Given the description of an element on the screen output the (x, y) to click on. 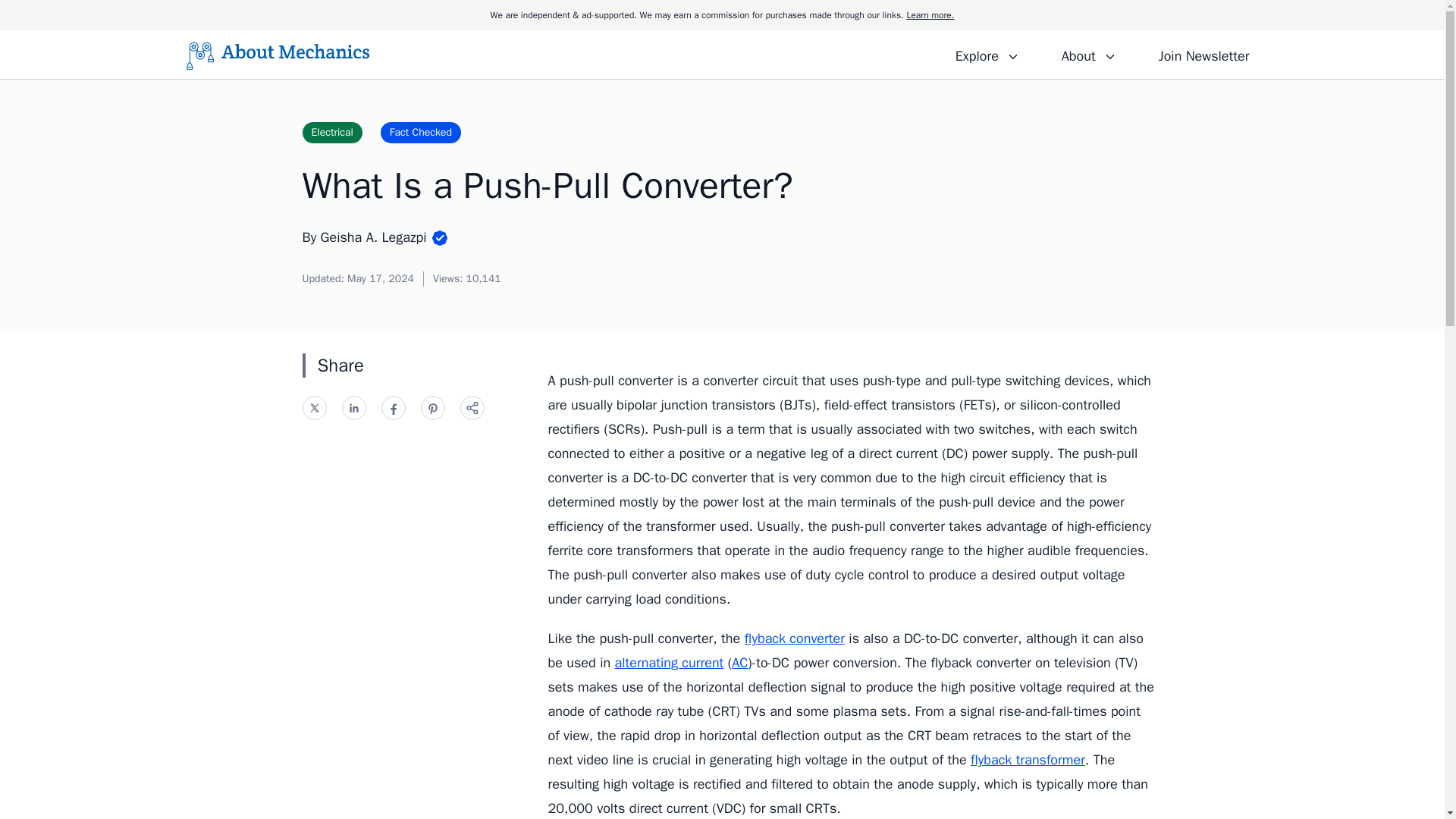
flyback converter (794, 638)
flyback transformer (1027, 759)
About (1088, 54)
Fact Checked (420, 132)
Join Newsletter (1202, 54)
Electrical (331, 132)
Explore (986, 54)
alternating current (668, 662)
Learn more. (929, 15)
AC (740, 662)
